Given the description of an element on the screen output the (x, y) to click on. 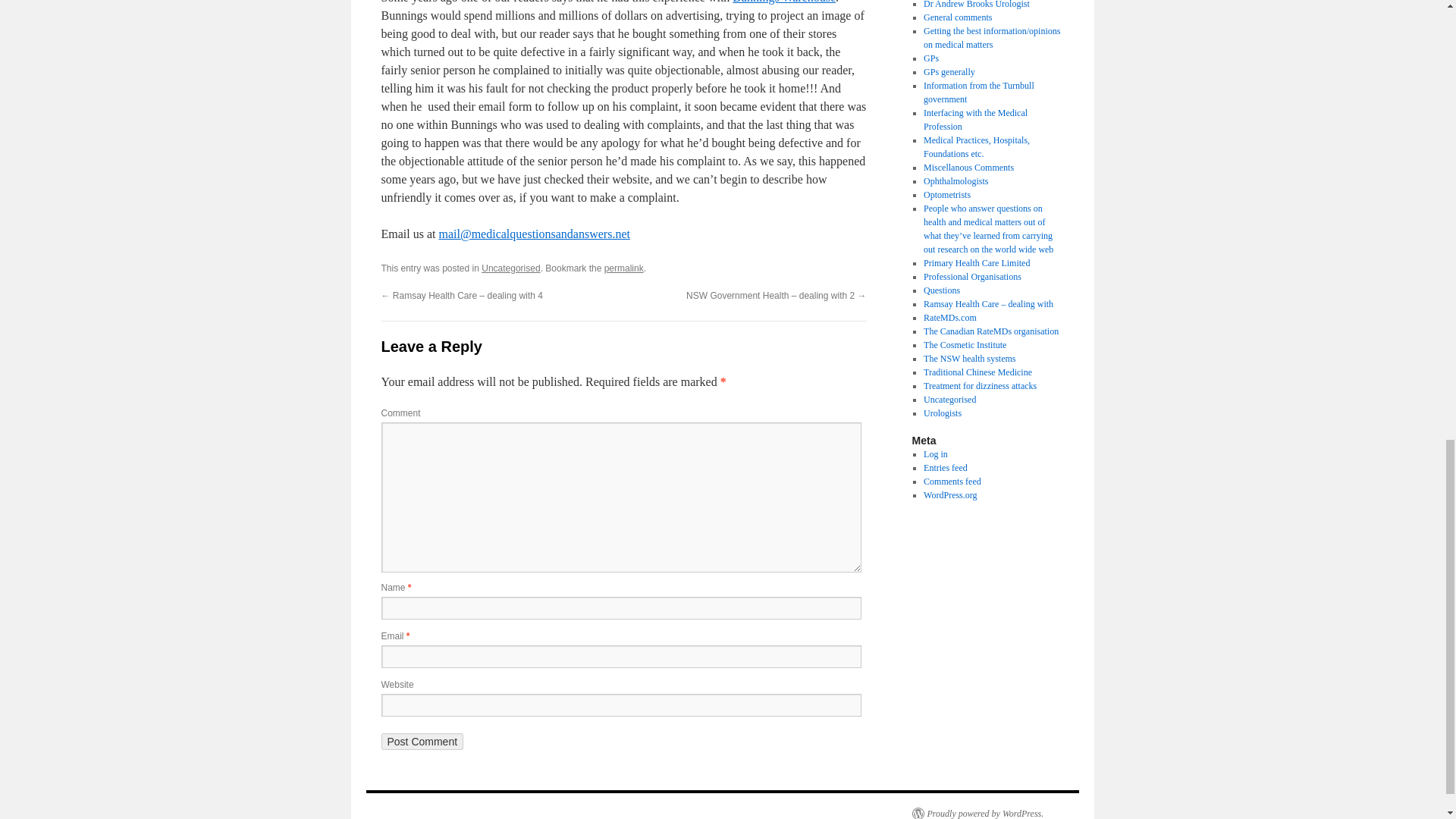
Post Comment (421, 741)
permalink (623, 267)
Uncategorised (510, 267)
Post Comment (421, 741)
Bunnings Warehouse (783, 2)
